Given the description of an element on the screen output the (x, y) to click on. 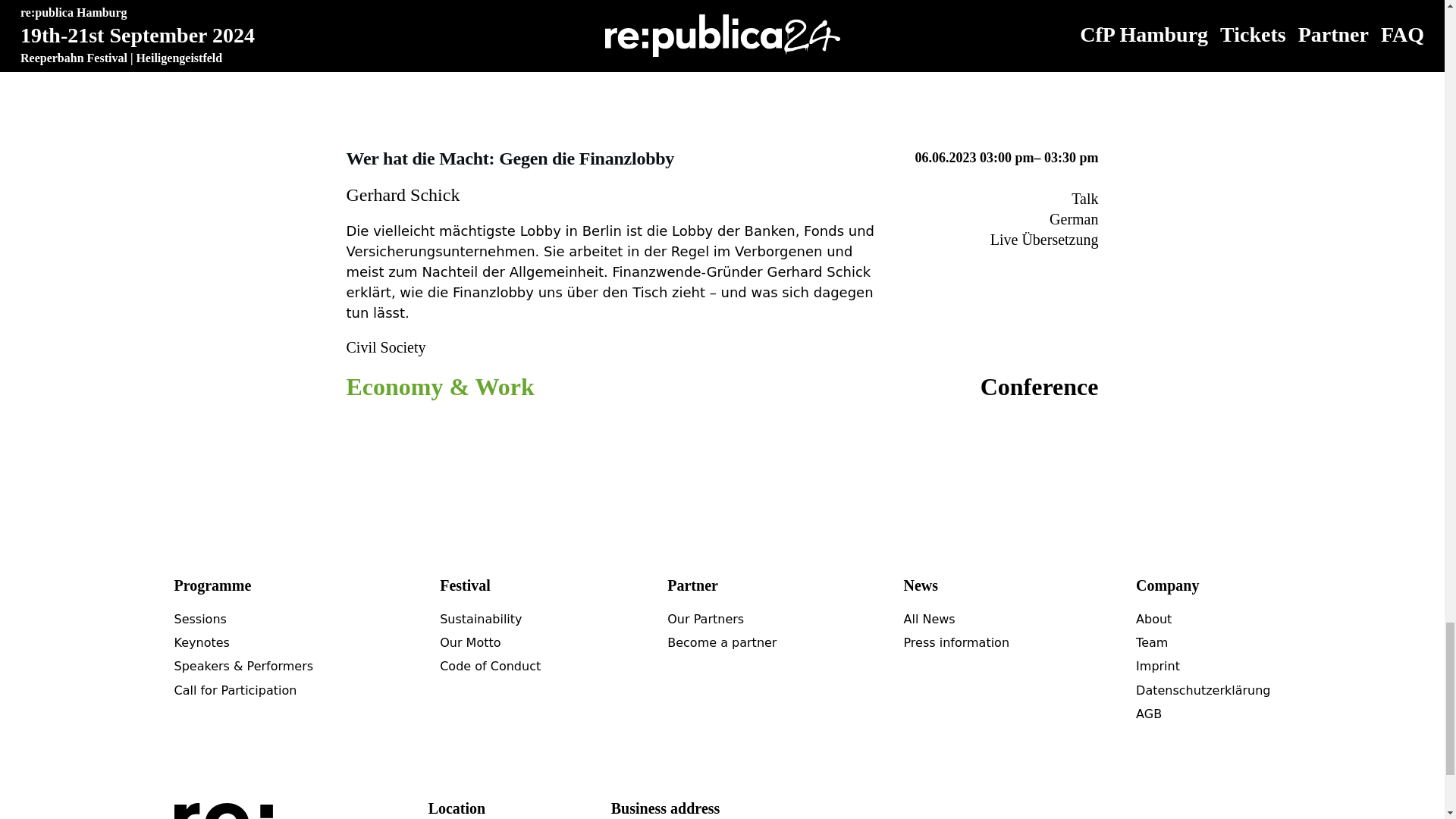
Gerhard Schick (403, 194)
Our Partners (705, 618)
Imprint (1157, 666)
Call for Participation (235, 690)
Press information (955, 642)
Sessions (200, 618)
About (1153, 618)
Become a partner (721, 642)
Code of Conduct (489, 666)
Keynotes (202, 642)
AGB (1148, 713)
All News (928, 618)
Team (1151, 642)
Die Bank gewinnt immer (669, 5)
Sustainability (480, 618)
